Given the description of an element on the screen output the (x, y) to click on. 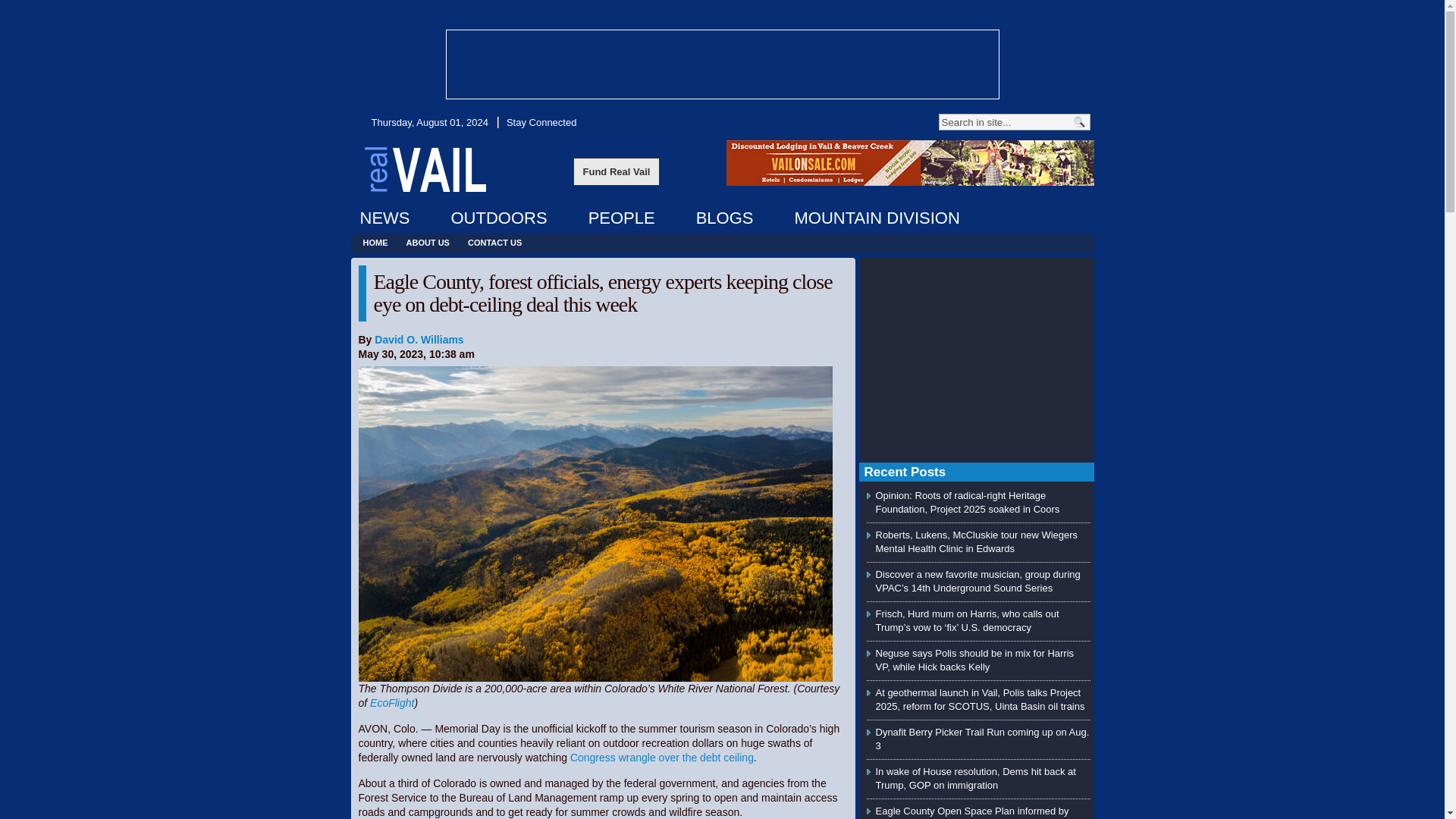
HOME (374, 242)
Vail Valley News, Guides, and Information (424, 168)
EcoFlight (391, 702)
CONTACT US (494, 242)
ABOUT US (427, 242)
Stay Connected (540, 122)
Posts by David O. Williams (418, 339)
Real Vail (424, 168)
Congress wrangle over the debt ceiling (662, 757)
NEWS (384, 217)
